Given the description of an element on the screen output the (x, y) to click on. 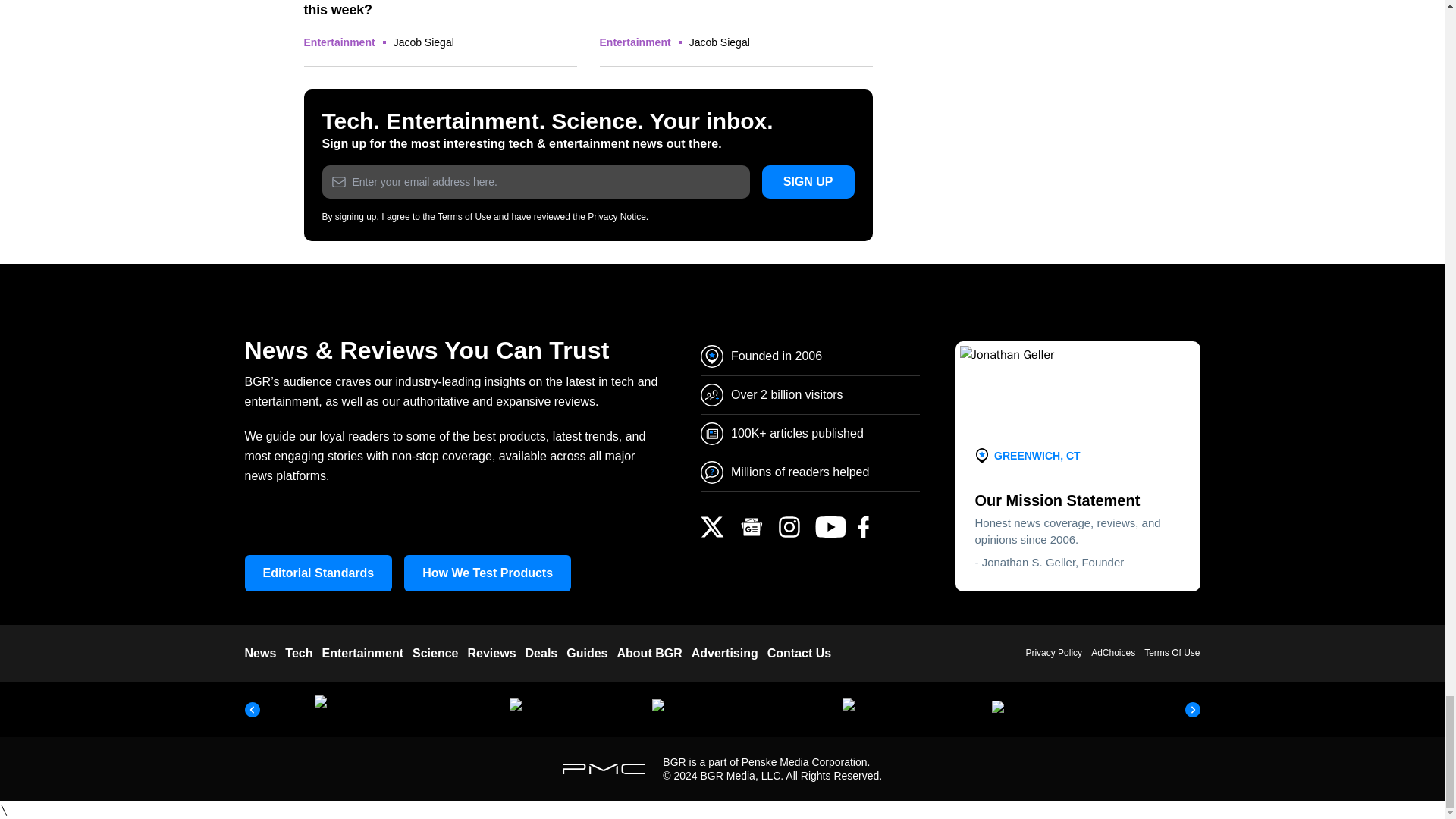
Posts by Jacob Siegal (423, 42)
